Given the description of an element on the screen output the (x, y) to click on. 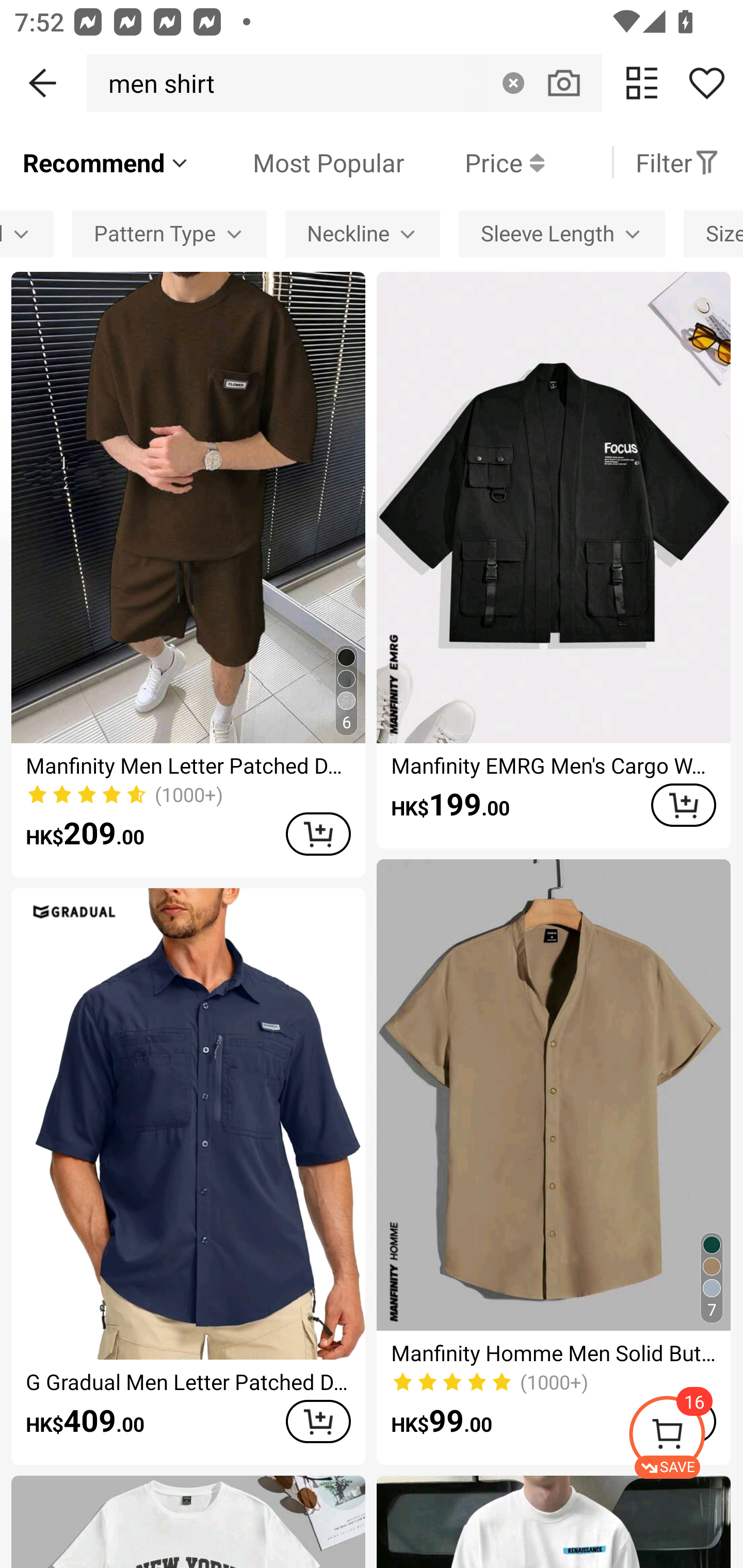
men shirt Clear (343, 82)
men shirt (155, 82)
Clear (513, 82)
change view (641, 82)
Share (706, 82)
Recommend (106, 162)
Most Popular (297, 162)
Price (474, 162)
Filter (677, 162)
Pattern Type (169, 233)
Neckline (362, 233)
Sleeve Length (561, 233)
ADD TO CART (683, 805)
ADD TO CART (318, 834)
SAVE (685, 1436)
ADD TO CART (318, 1421)
